Given the description of an element on the screen output the (x, y) to click on. 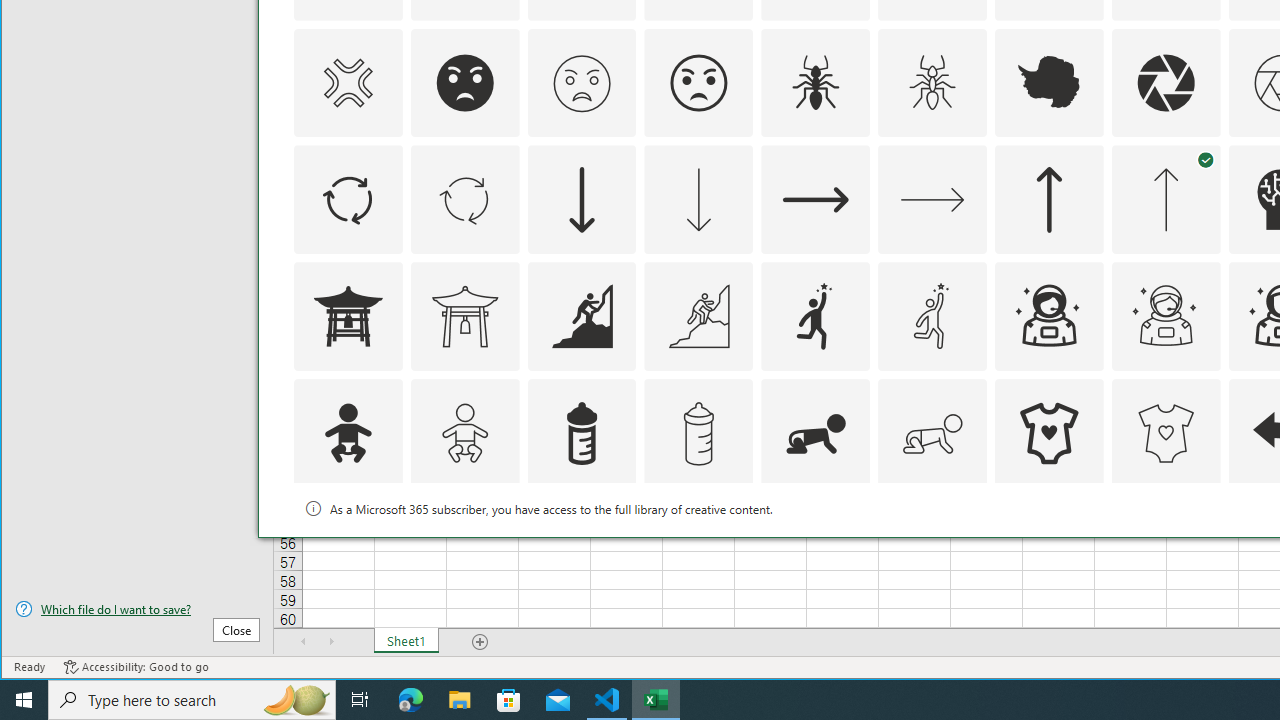
AutomationID: Icons_BabyCrawling (815, 434)
Microsoft Store (509, 699)
AutomationID: Icons_ArrowUp (1048, 200)
AutomationID: Icons_BabyOnesie_M (1165, 434)
AutomationID: Icons_ArrowRight_M (932, 200)
AutomationID: Icons_ArrowDown (582, 200)
AutomationID: Icons_AsianTemple1 (348, 316)
AutomationID: Icons_Aspiration1_M (932, 316)
